Given the description of an element on the screen output the (x, y) to click on. 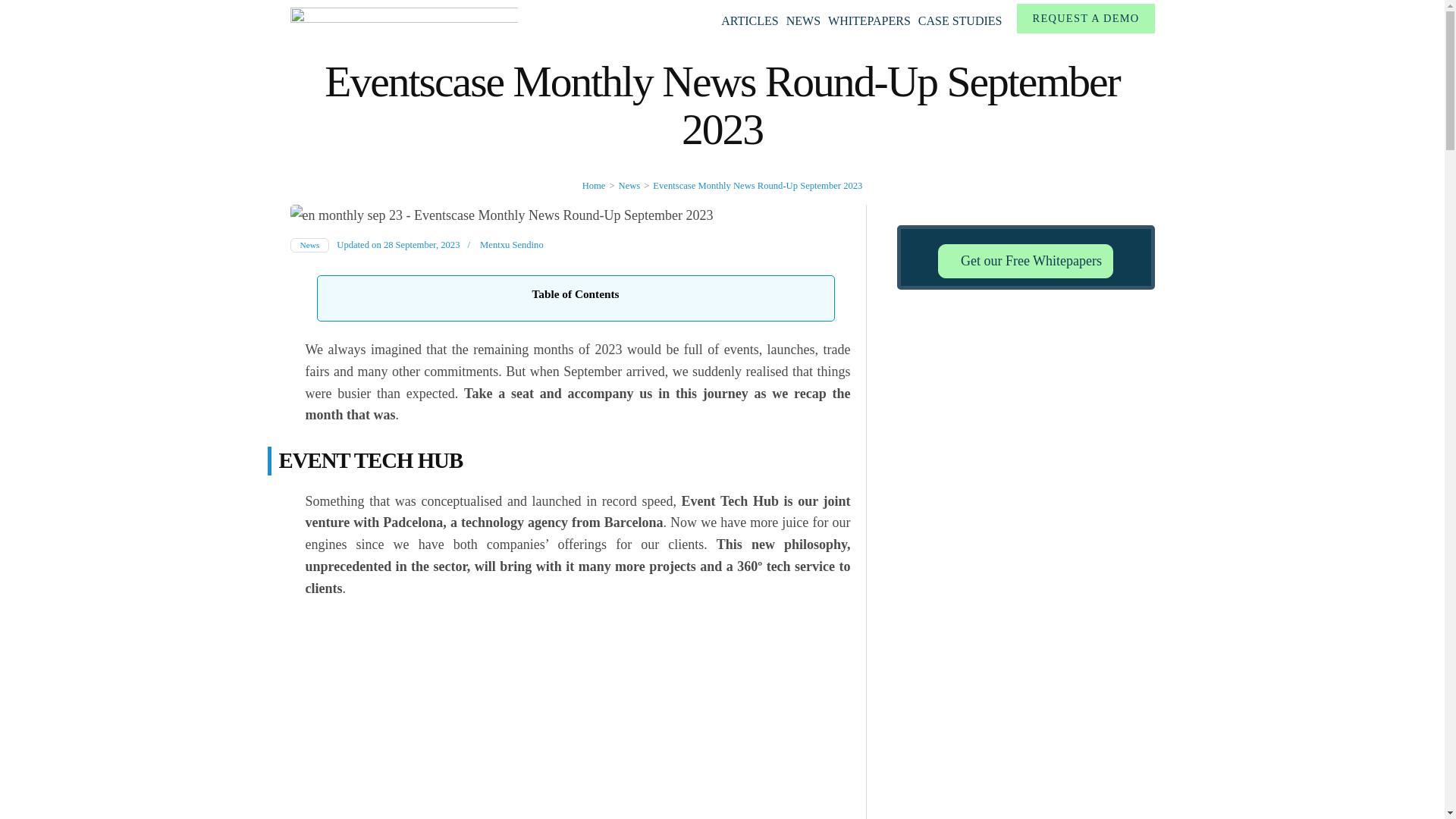
WHITEPAPERS (869, 21)
ARTICLES (749, 21)
NEWS (803, 21)
Home (593, 185)
CASE STUDIES (960, 21)
Mentxu Sendino (511, 244)
REQUEST A DEMO (1085, 18)
News (629, 185)
Eventscase Event Industry Blog (628, 17)
